Given the description of an element on the screen output the (x, y) to click on. 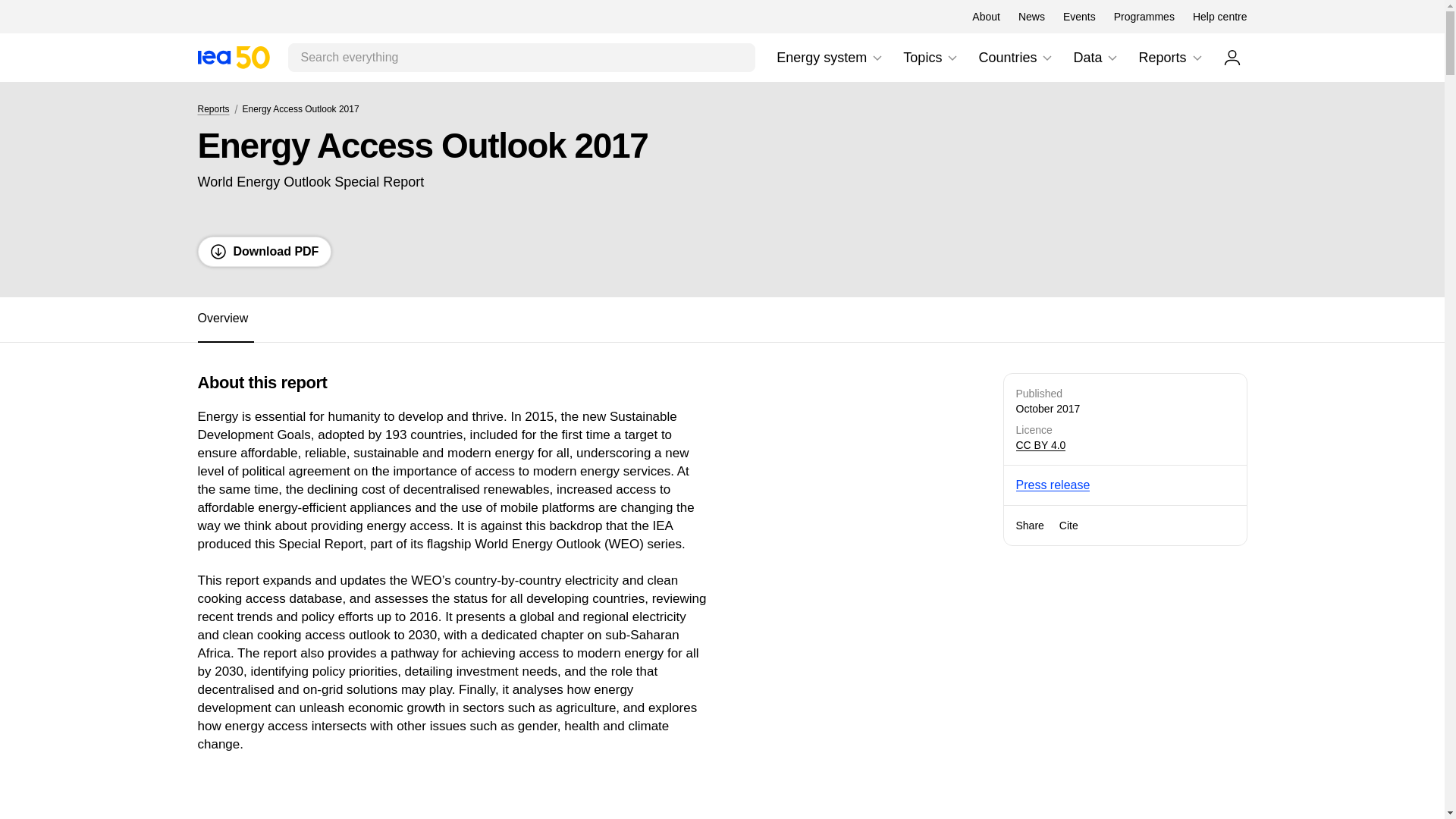
Overview (721, 320)
About (986, 16)
News (1031, 16)
IEA (232, 56)
Chevron down (830, 57)
IEA (951, 57)
Help centre (232, 56)
Programmes (1219, 16)
